Given the description of an element on the screen output the (x, y) to click on. 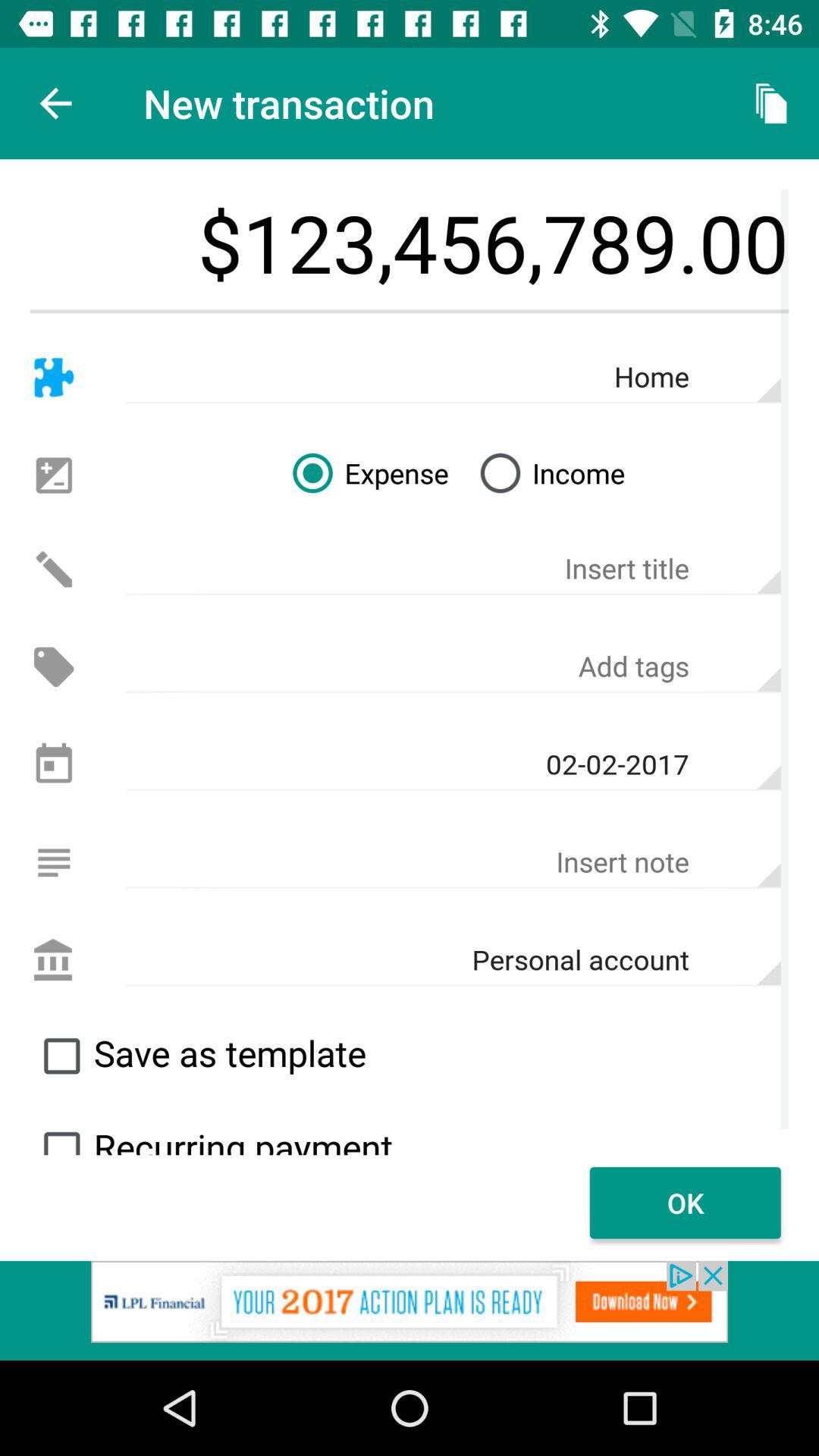
click to personal account (53, 960)
